Given the description of an element on the screen output the (x, y) to click on. 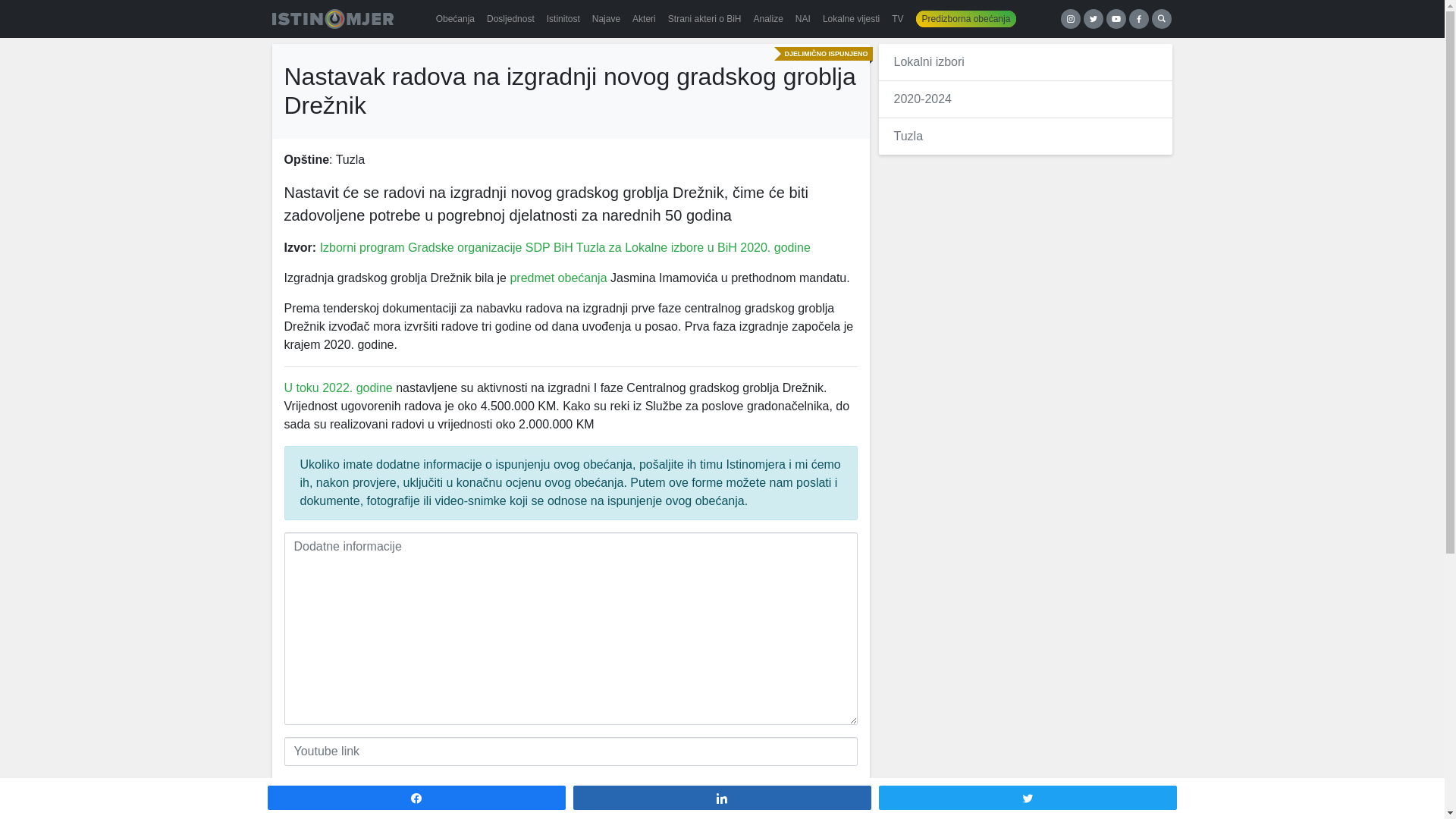
Dosljednost Element type: text (510, 18)
Najave Element type: text (606, 18)
Istinomjer Element type: hover (331, 18)
U toku 2022. godine Element type: text (337, 387)
Lokalne vijesti Element type: text (850, 18)
NAI Element type: text (802, 18)
Lokalni izbori Element type: text (928, 61)
Tuzla Element type: text (907, 135)
TV Element type: text (897, 18)
Strani akteri o BiH Element type: text (704, 18)
Akteri Element type: text (644, 18)
Search Element type: hover (1160, 18)
Analize Element type: text (768, 18)
Istinitost Element type: text (563, 18)
2020-2024 Element type: text (922, 98)
